Given the description of an element on the screen output the (x, y) to click on. 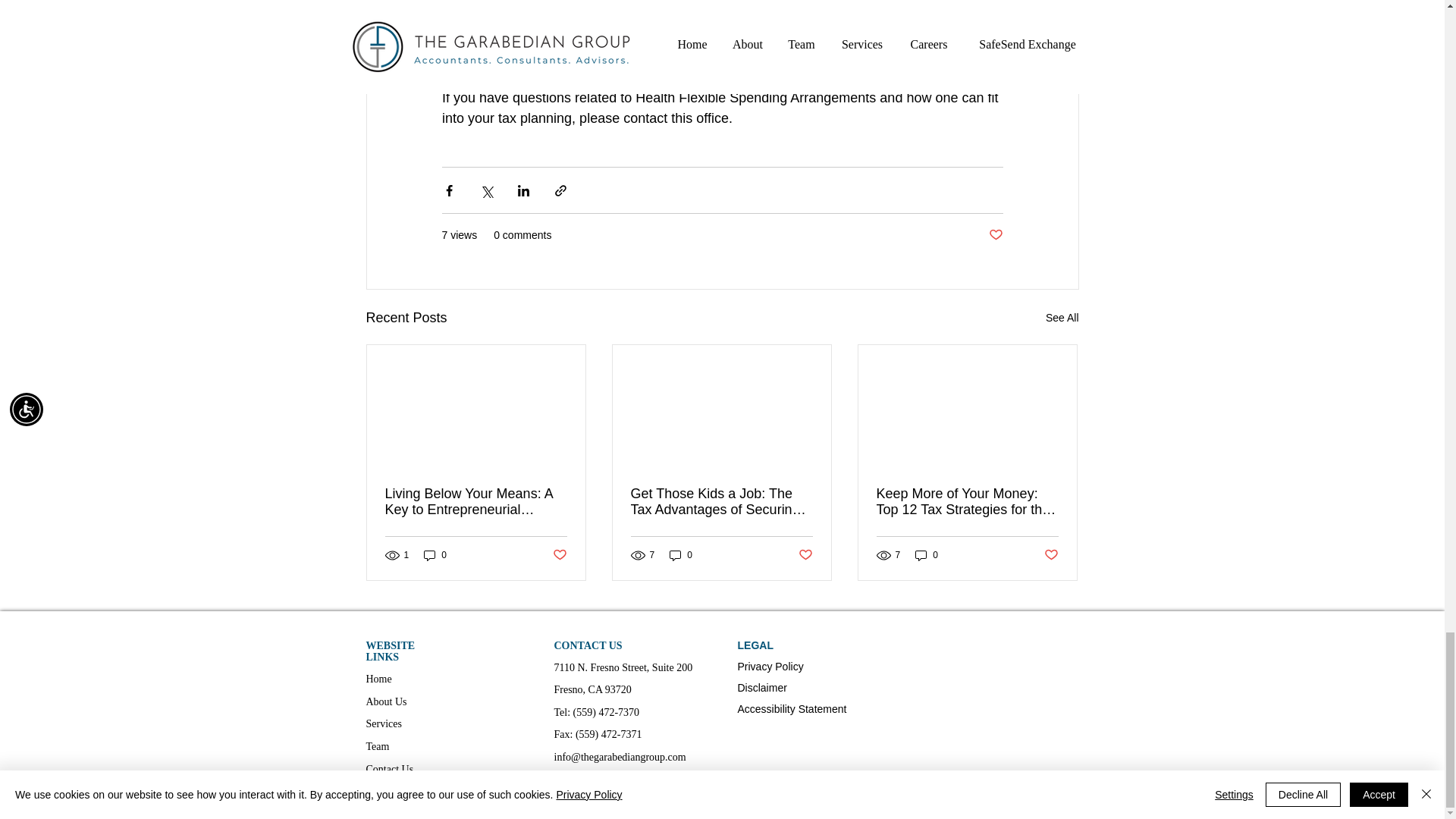
Post not marked as liked (995, 235)
